Given the description of an element on the screen output the (x, y) to click on. 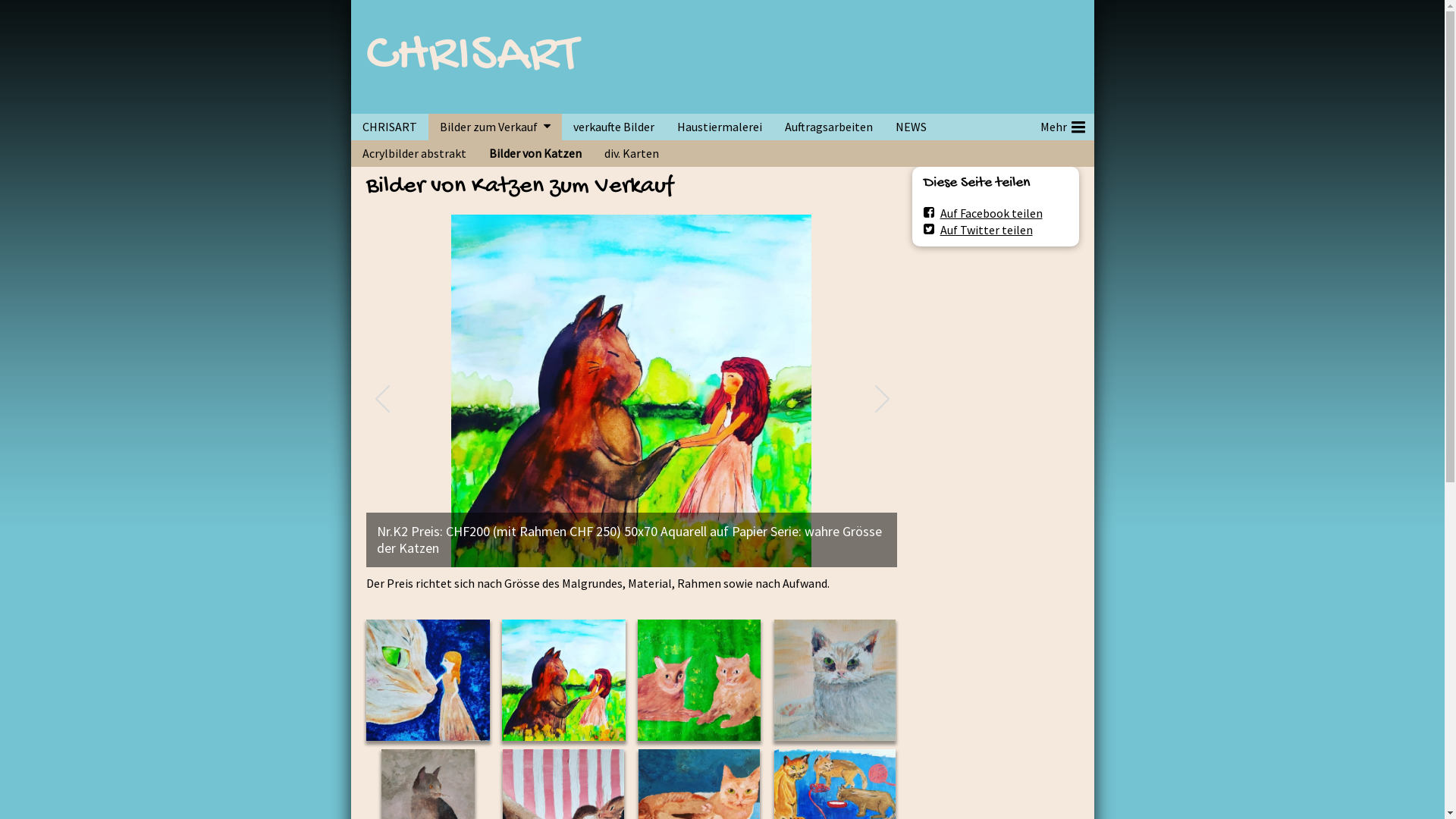
Acrylbilder abstrakt Element type: text (413, 153)
Haustiermalerei Element type: text (719, 126)
div. Karten Element type: text (631, 153)
Auf Twitter teilen Element type: text (977, 228)
Mehr Element type: text (1060, 126)
CHRISART Element type: text (388, 126)
Bilder von Katzen Element type: text (535, 153)
Auftragsarbeiten Element type: text (828, 126)
CHRISART Element type: text (471, 56)
Auf Facebook teilen Element type: text (982, 211)
verkaufte Bilder Element type: text (613, 126)
NEWS Element type: text (911, 126)
Bilder zum Verkauf Element type: text (483, 126)
